Given the description of an element on the screen output the (x, y) to click on. 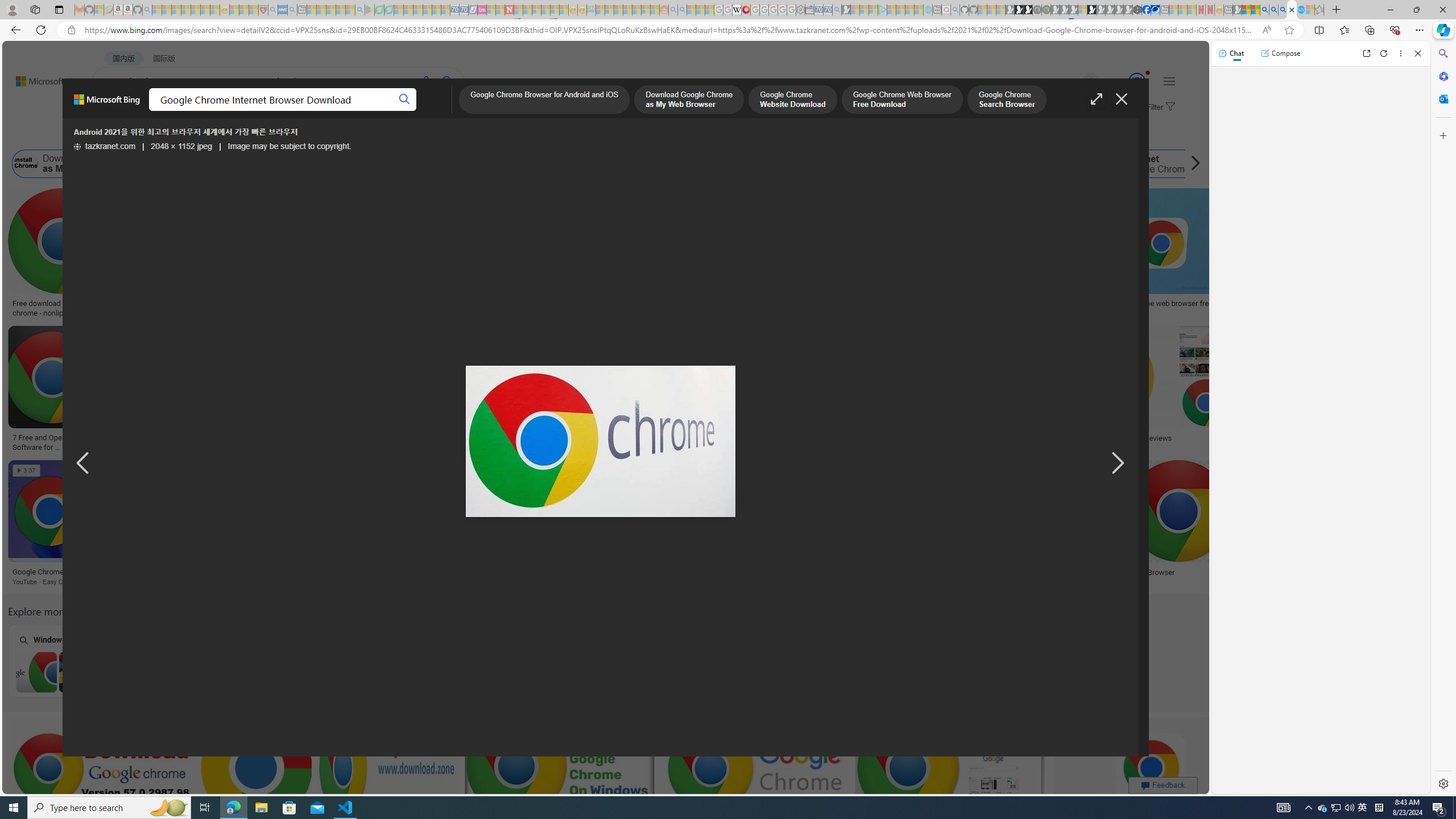
Download video online chrome - hresadish (188, 307)
MY BING (156, 111)
Google Chrome Review | Top Ten Reviews (1130, 437)
Image may be subject to copyright. (288, 146)
License (378, 135)
Windows 10 64-Bit (370, 660)
Internet Google Chrome (1108, 163)
